Given the description of an element on the screen output the (x, y) to click on. 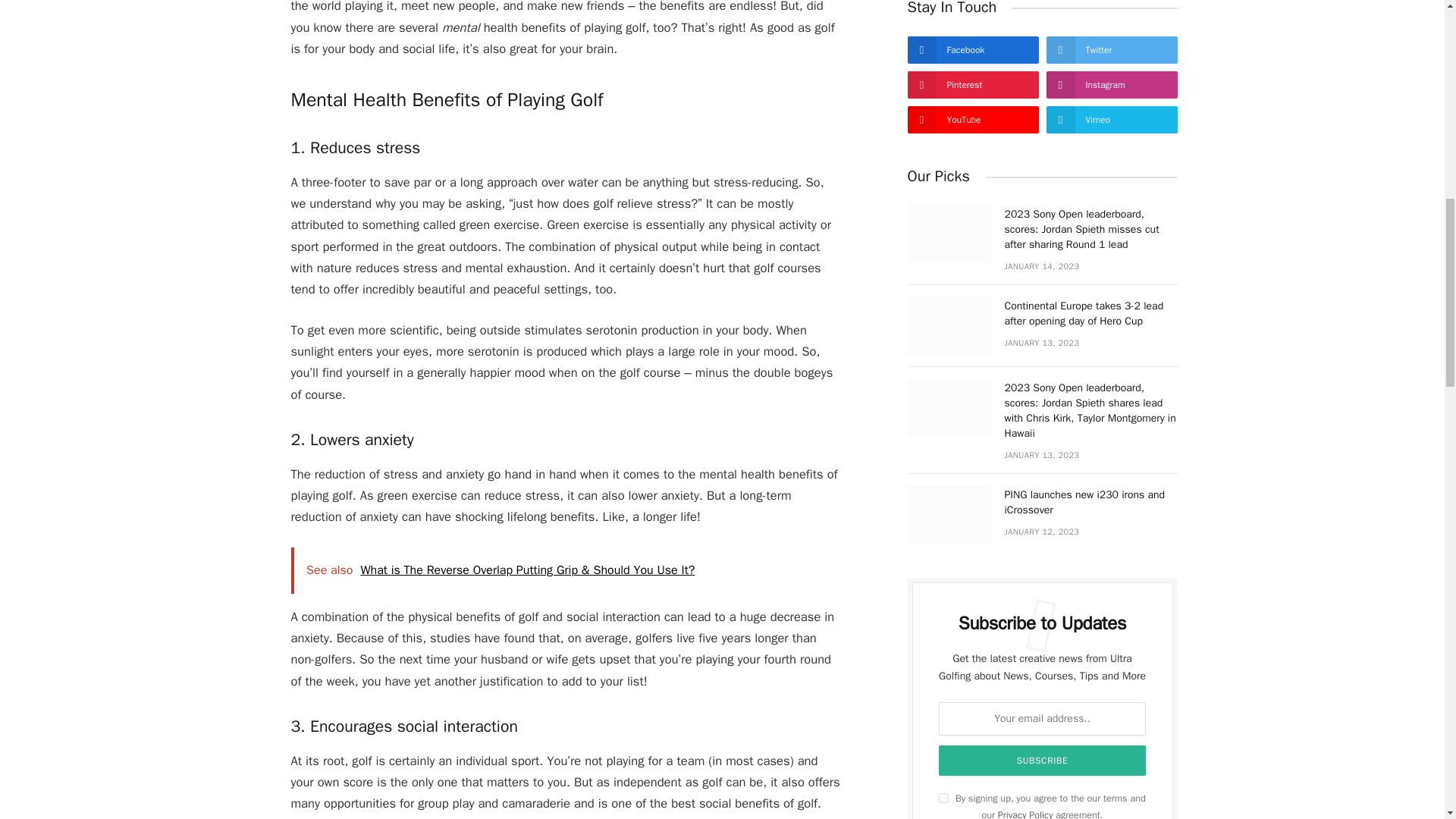
on (944, 798)
Subscribe (1043, 760)
